Given the description of an element on the screen output the (x, y) to click on. 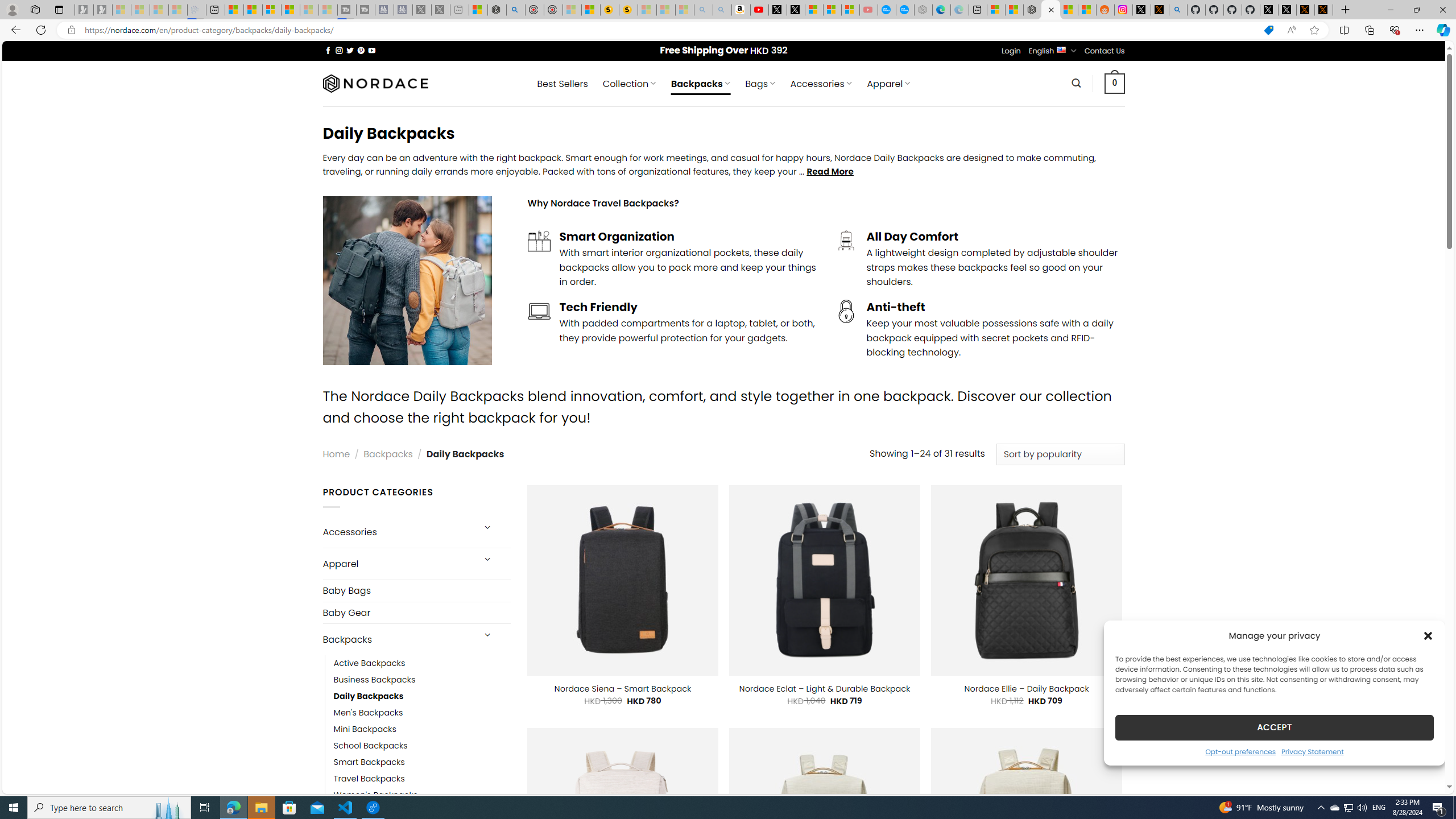
Active Backpacks (369, 663)
Smart Backpacks (368, 762)
Men's Backpacks (368, 712)
GitHub (@github) / X (1287, 9)
help.x.com | 524: A timeout occurred (1159, 9)
Follow on Pinterest (360, 49)
Baby Gear (416, 612)
Backpacks (397, 639)
